Given the description of an element on the screen output the (x, y) to click on. 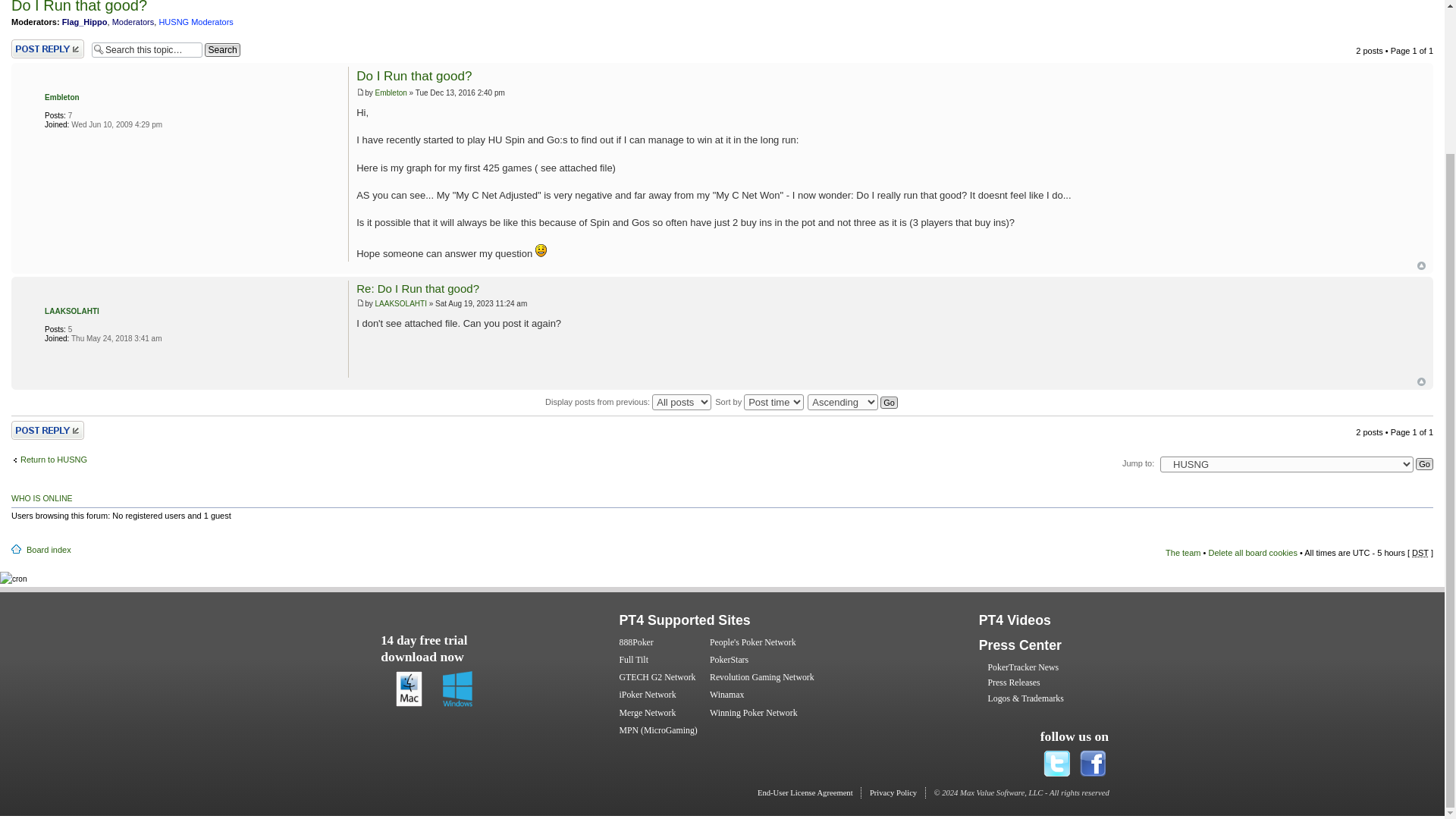
LAAKSOLAHTI (400, 303)
Re: Do I Run that good? (417, 287)
Embleton (62, 97)
Post a reply (47, 429)
Post a reply (47, 429)
Top (1420, 381)
Top (1420, 265)
Post (360, 302)
WHO IS ONLINE (41, 497)
LAAKSOLAHTI (72, 311)
Smile (541, 250)
Board index (48, 549)
Post a reply (47, 48)
Top (1420, 381)
Search (222, 49)
